Given the description of an element on the screen output the (x, y) to click on. 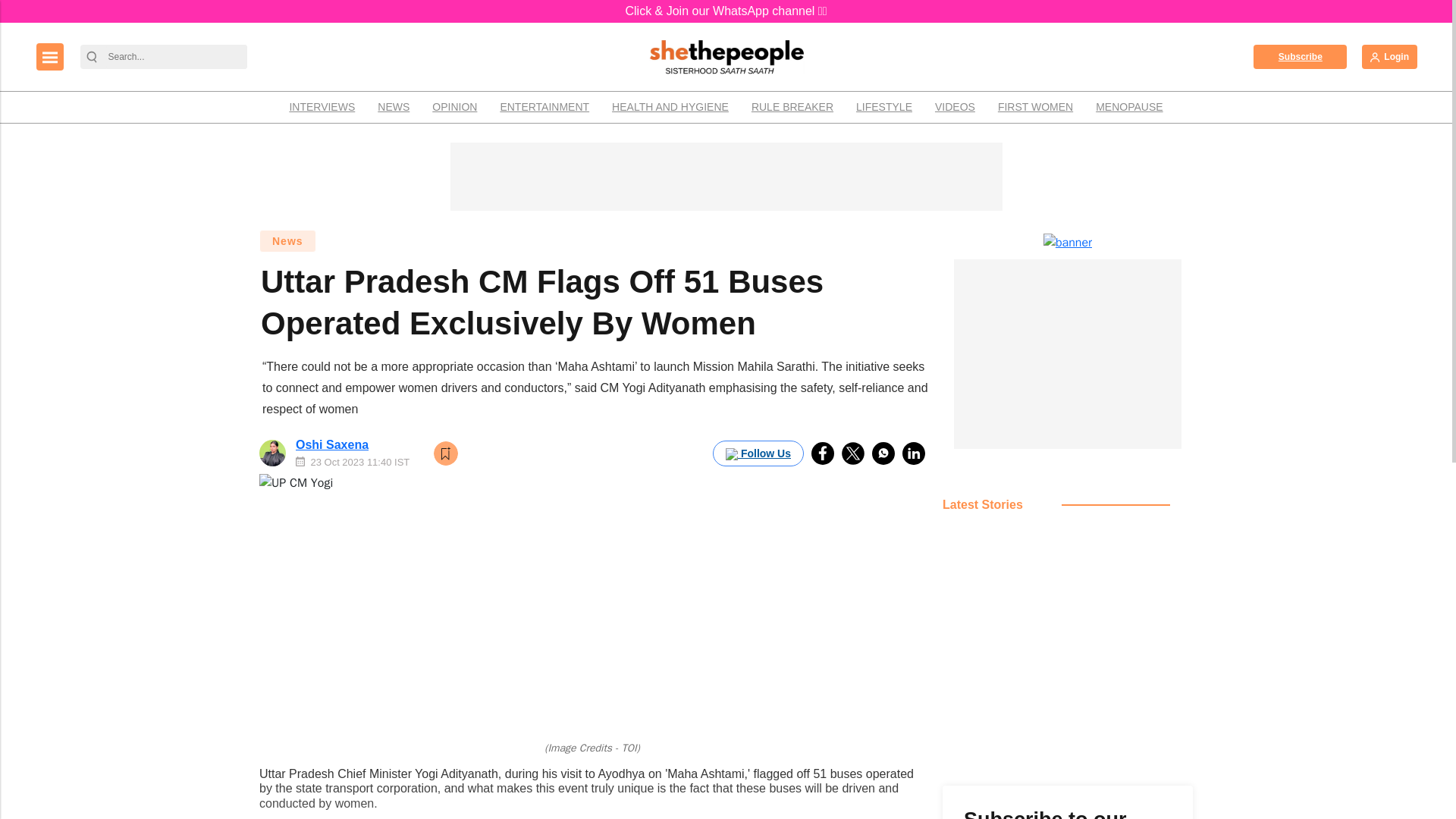
NEWS (393, 106)
Oshi Saxena (331, 444)
ENTERTAINMENT (543, 106)
RULE BREAKER (791, 106)
LIFESTYLE (883, 106)
Login (1388, 56)
HEALTH AND HYGIENE (669, 106)
News (287, 241)
OPINION (453, 106)
Subscribe (1299, 56)
